Given the description of an element on the screen output the (x, y) to click on. 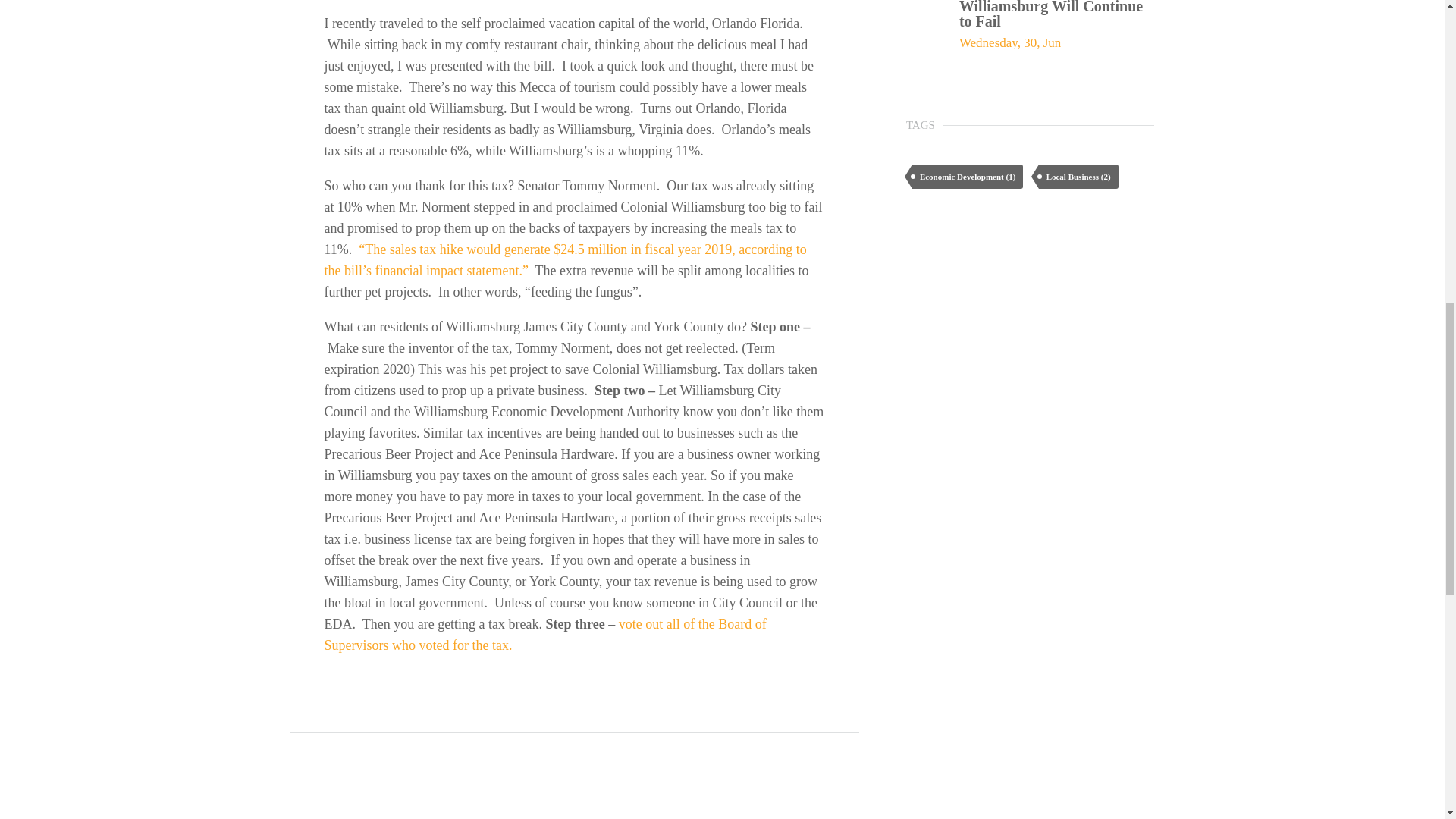
WJCC School Budget Needs Streamlining (722, 815)
WJCC School Budget Needs Streamlining (722, 815)
